Given the description of an element on the screen output the (x, y) to click on. 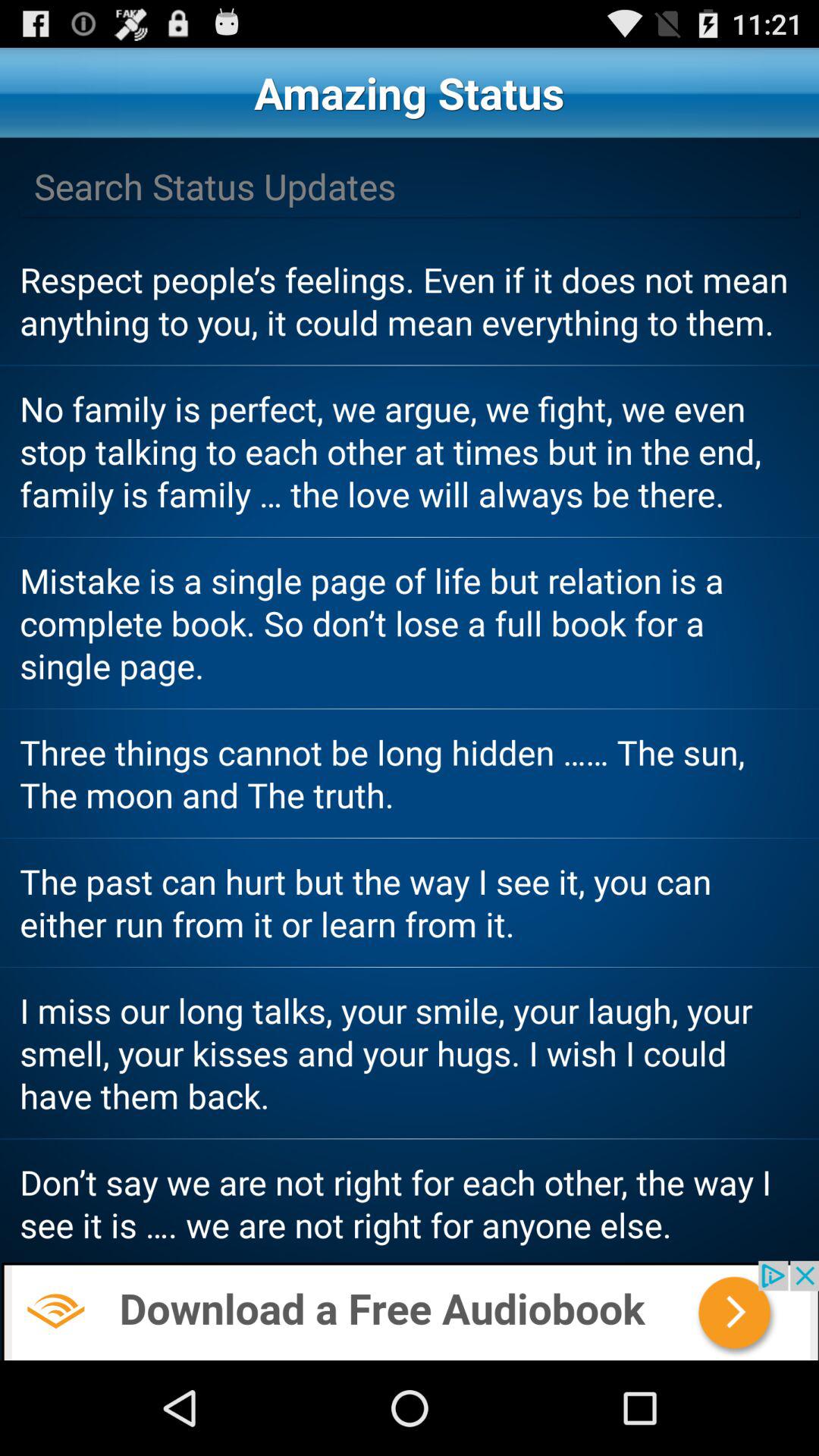
close the add (409, 1310)
